Given the description of an element on the screen output the (x, y) to click on. 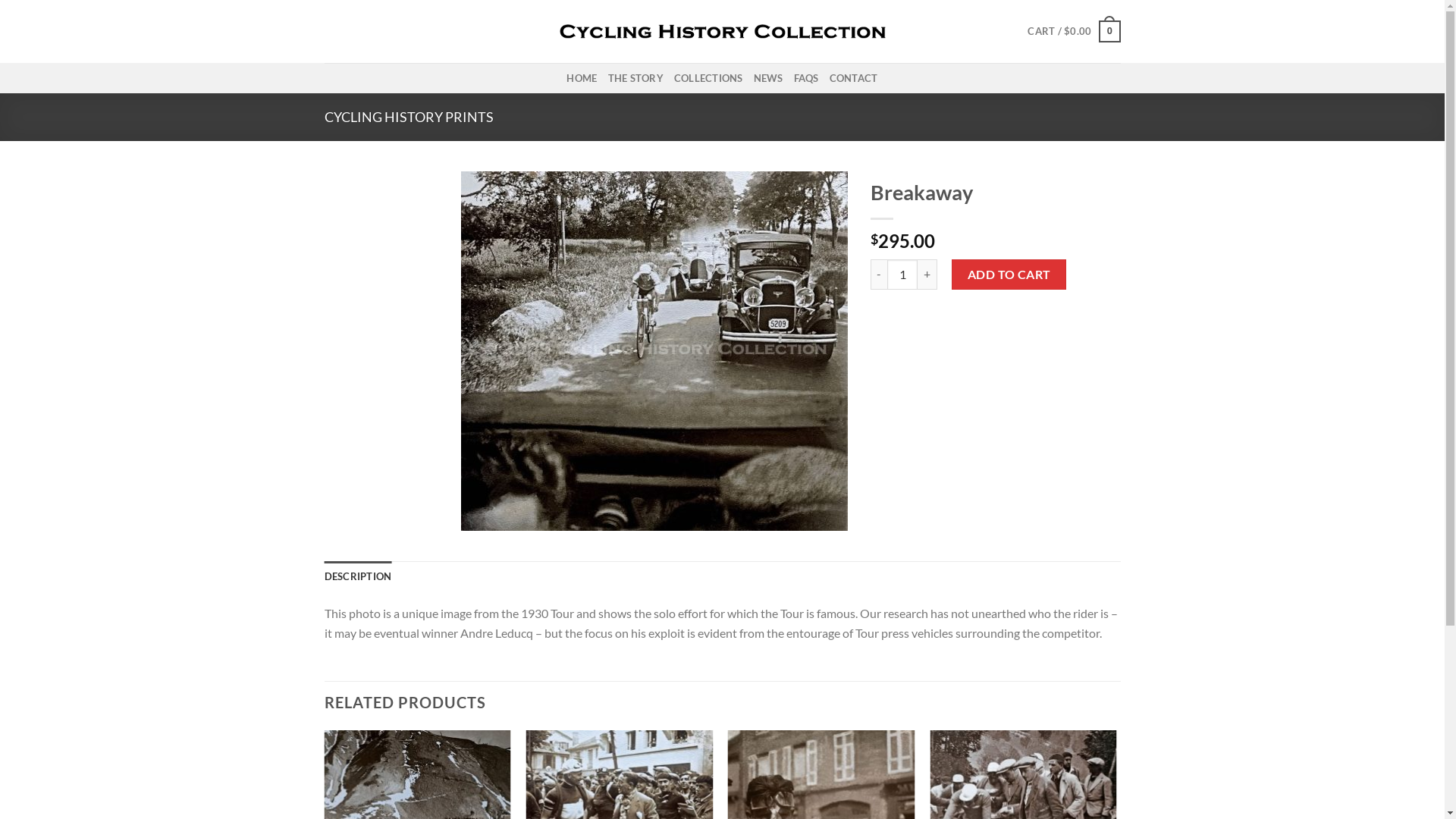
COLLECTIONS Element type: text (708, 77)
ADD TO CART Element type: text (1008, 274)
CART / $0.00
0 Element type: text (1073, 31)
NEWS Element type: text (768, 77)
Cycling History Collection - Historic Cycling Prints Element type: hover (722, 31)
THE STORY Element type: text (635, 77)
Qty Element type: hover (902, 274)
1-2 Element type: hover (654, 350)
CONTACT Element type: text (853, 77)
FAQS Element type: text (806, 77)
CYCLING HISTORY PRINTS Element type: text (408, 116)
DESCRIPTION Element type: text (358, 576)
HOME Element type: text (581, 77)
